Given the description of an element on the screen output the (x, y) to click on. 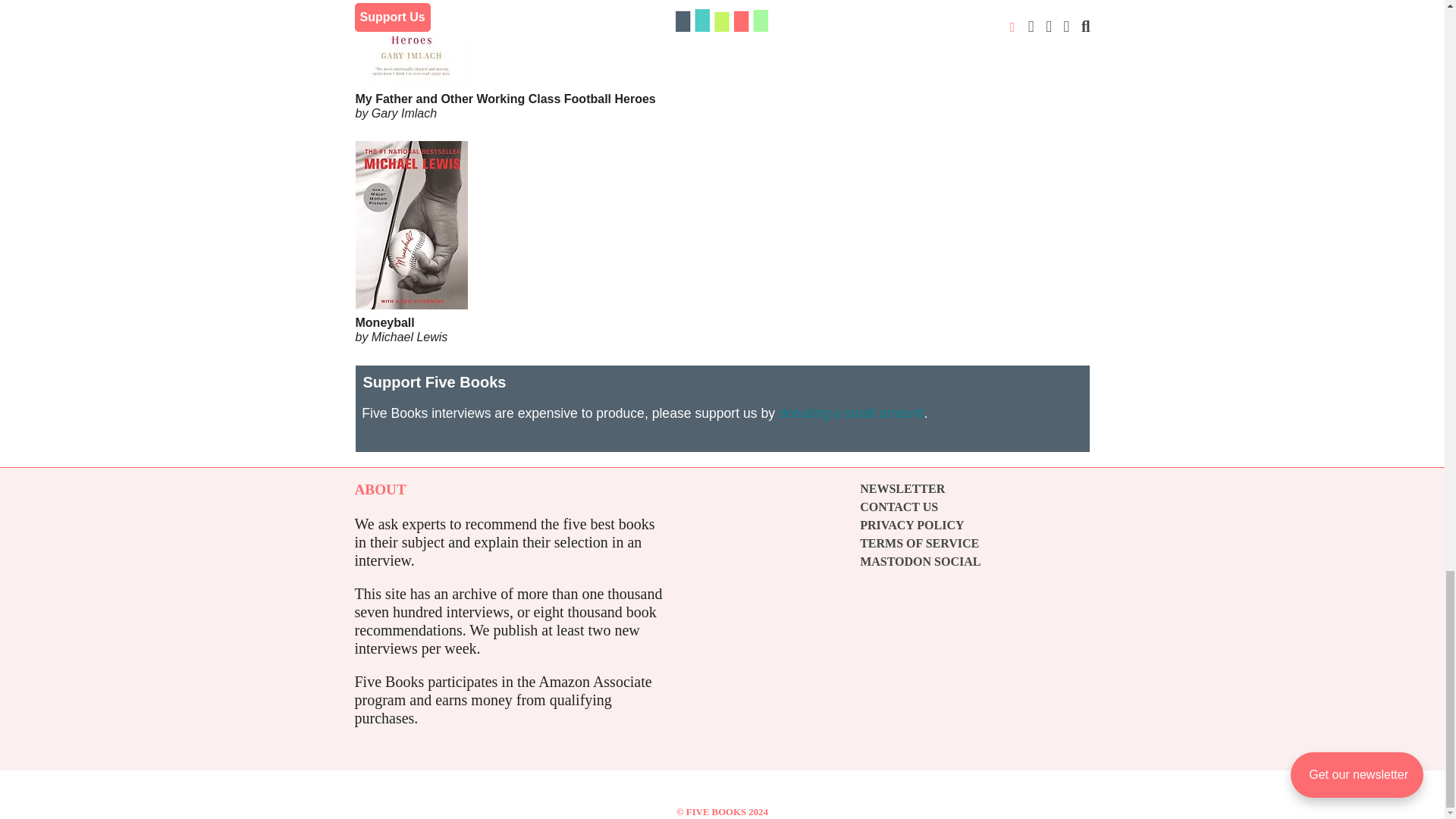
My Father and Other Working Class Football Heroes (722, 60)
Moneyball (722, 281)
